Given the description of an element on the screen output the (x, y) to click on. 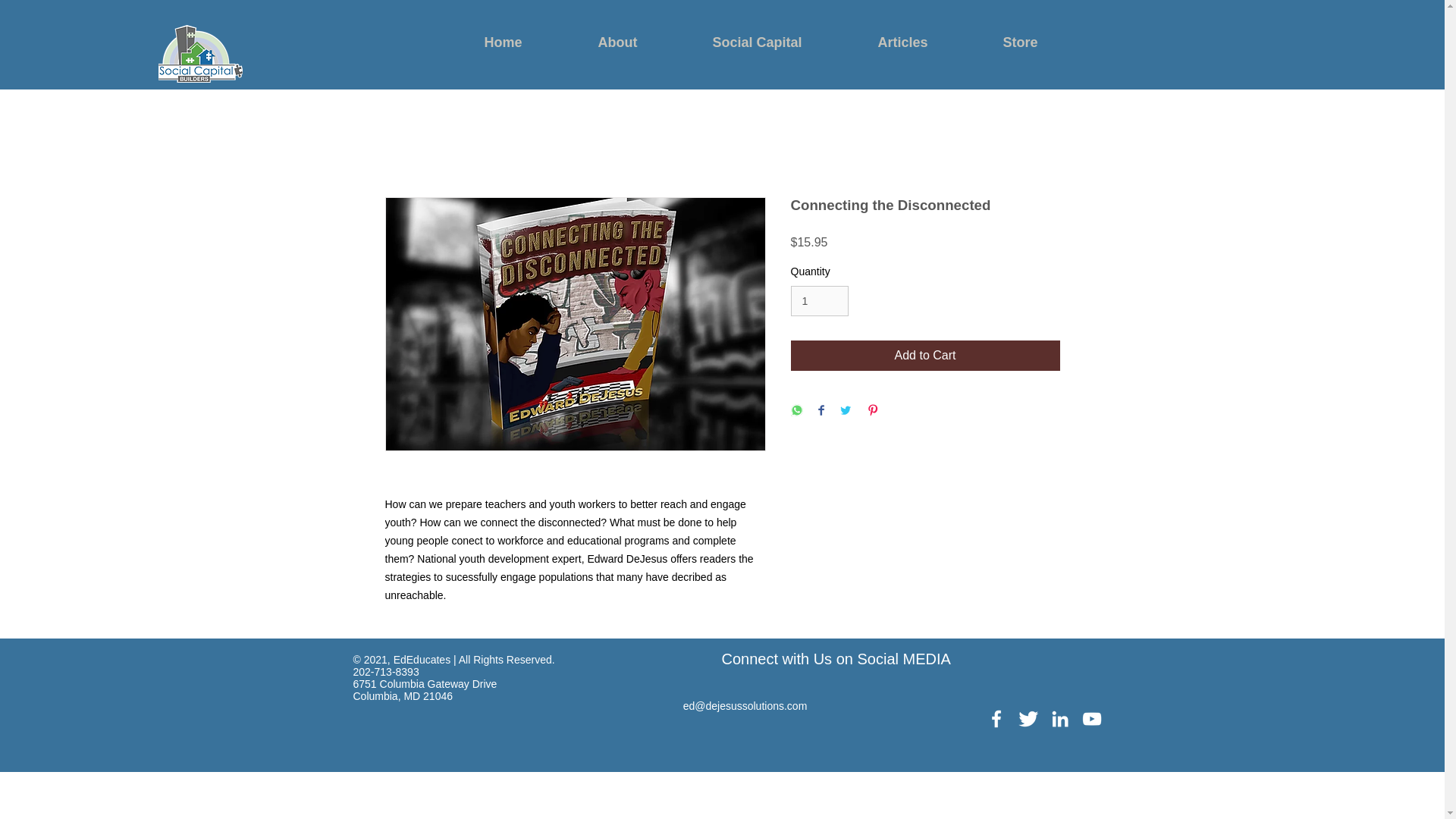
Store (1040, 41)
Articles (925, 41)
Home (525, 41)
Social Capital (780, 41)
About (639, 41)
Add to Cart (924, 355)
1 (818, 300)
